Given the description of an element on the screen output the (x, y) to click on. 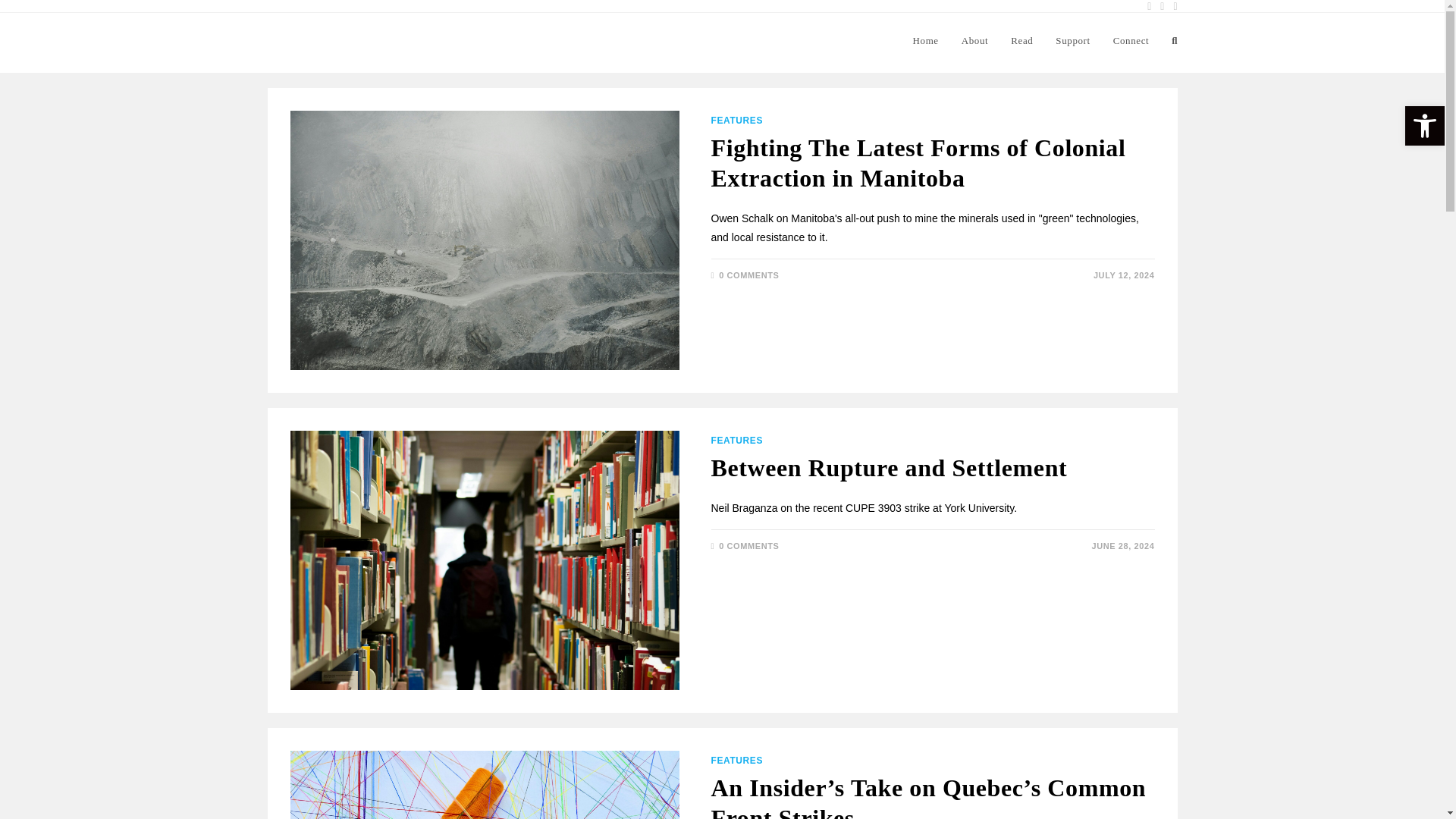
Support (1071, 40)
0 COMMENTS (748, 275)
Fighting The Latest Forms of Colonial Extraction in Manitoba (918, 162)
FEATURES (736, 760)
Between Rupture and Settlement (889, 467)
Fighting The Latest Forms of Colonial Extraction in Manitoba (918, 162)
Between Rupture and Settlement (889, 467)
About (975, 40)
FEATURES (736, 120)
FEATURES (736, 439)
Accessibility Tools (1424, 125)
0 COMMENTS (748, 545)
Connect (1131, 40)
